Given the description of an element on the screen output the (x, y) to click on. 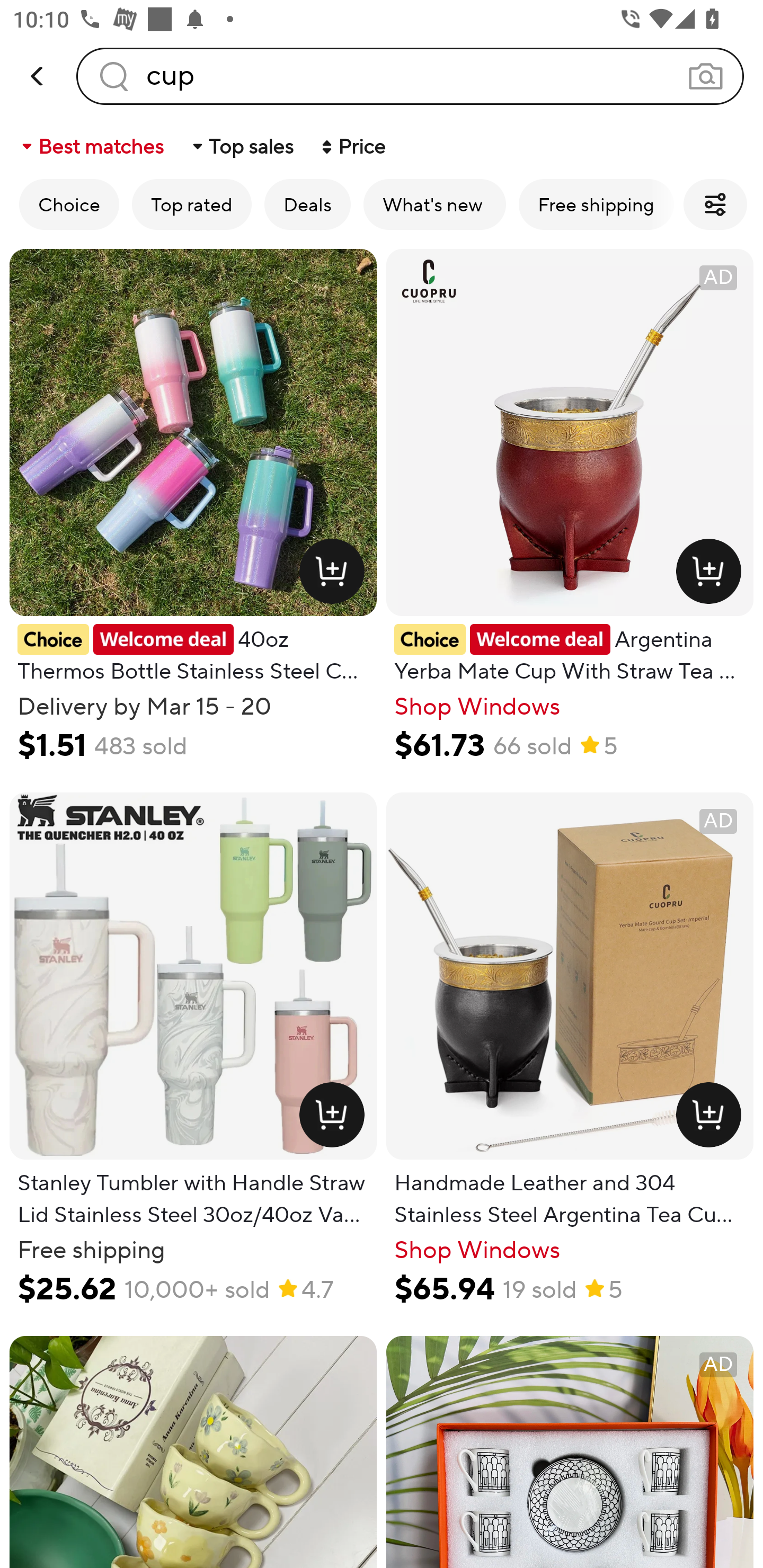
back (38, 75)
cup Search query (409, 76)
cup Search query (409, 76)
Best matches (91, 146)
Top sales (241, 146)
Price (352, 146)
Choice (69, 204)
Top rated (191, 204)
Deals (307, 204)
What's new  (434, 204)
Free shipping (595, 204)
